Given the description of an element on the screen output the (x, y) to click on. 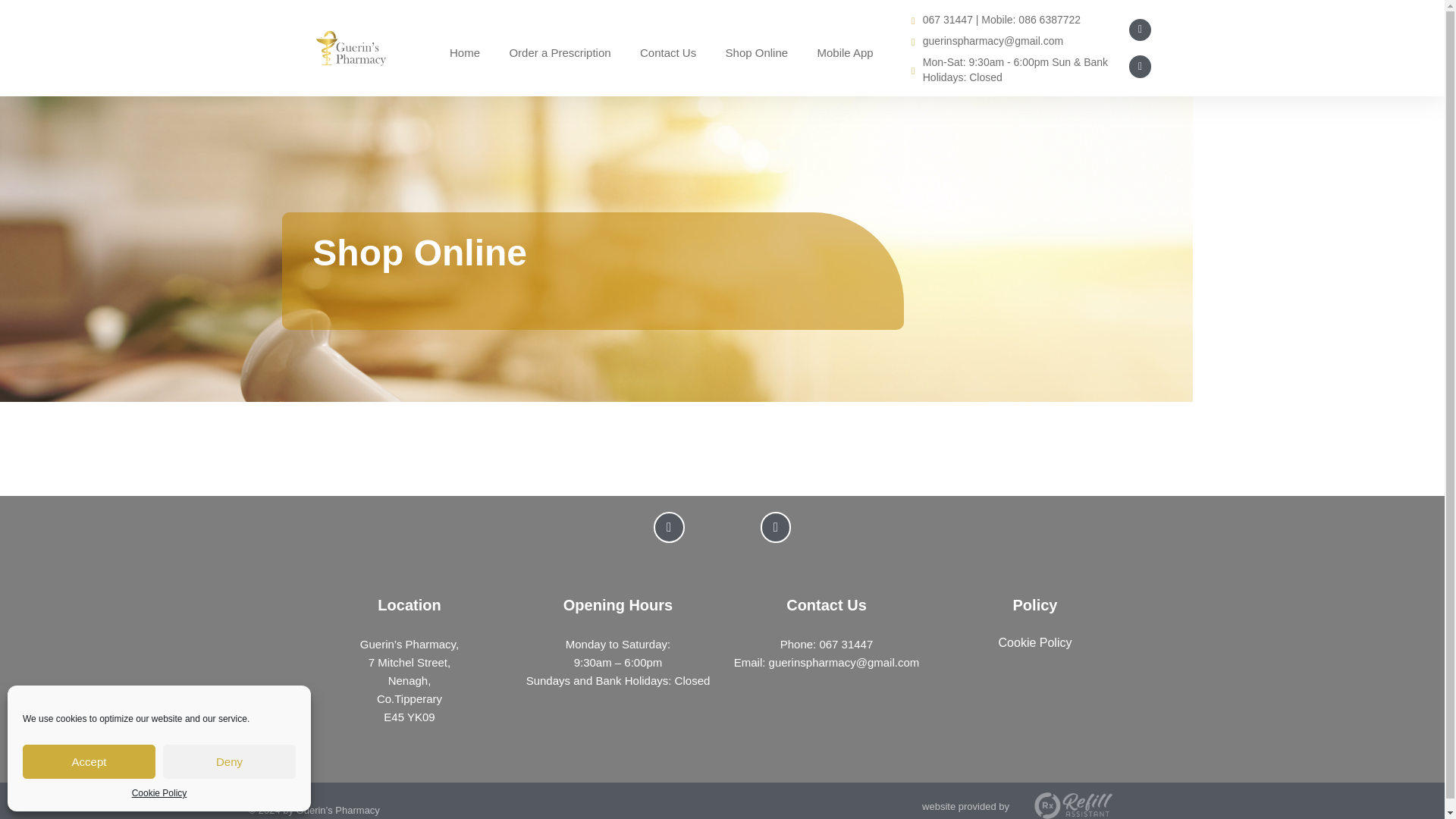
Order a Prescription (560, 53)
Deny (229, 761)
Cookie Policy (159, 793)
Home (464, 53)
Contact Us (668, 53)
Shop Online (756, 53)
Mobile App (845, 53)
Accept (89, 761)
